Given the description of an element on the screen output the (x, y) to click on. 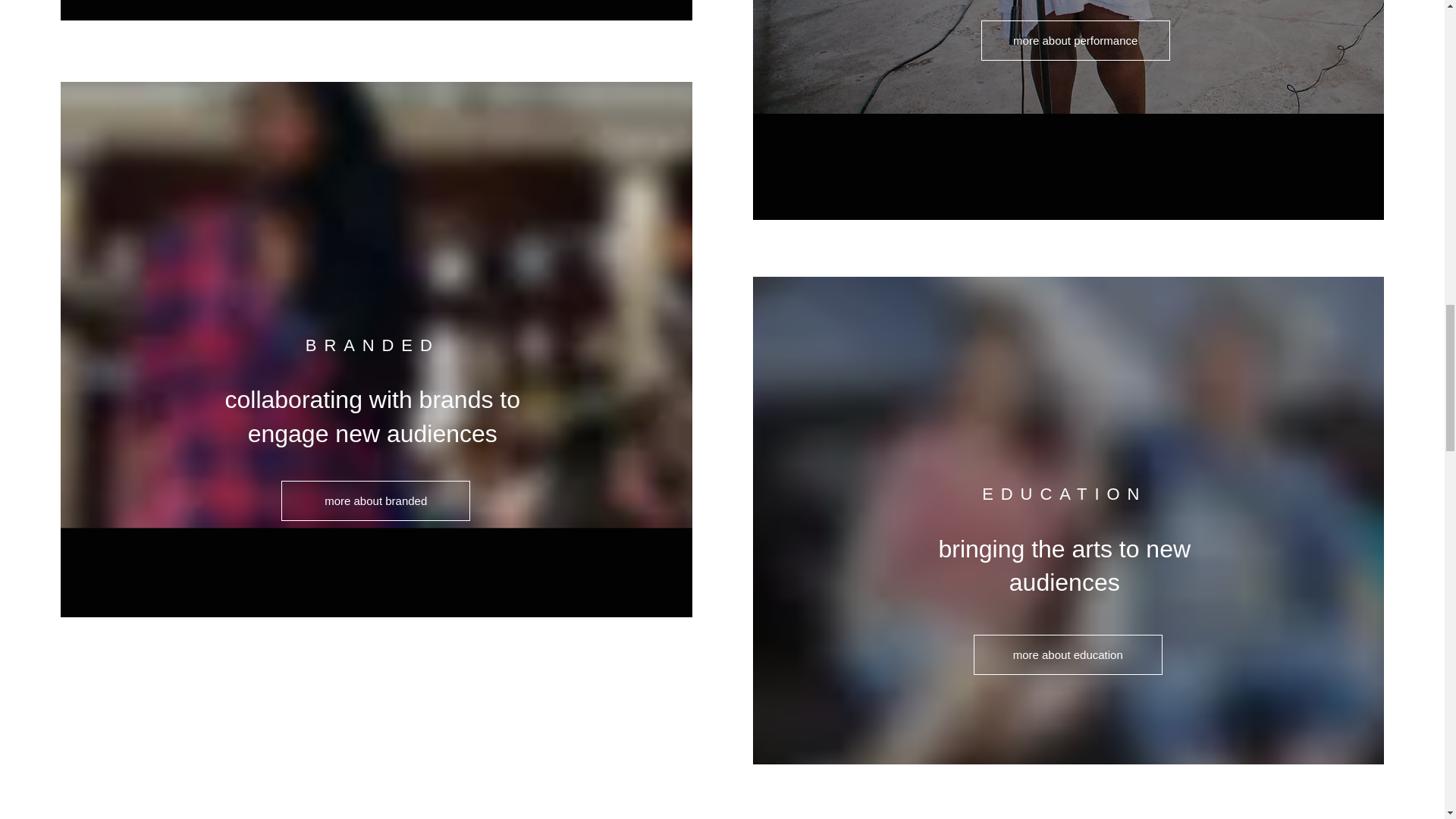
more about performance (1075, 40)
more about education (1067, 654)
more about branded (375, 500)
